Given the description of an element on the screen output the (x, y) to click on. 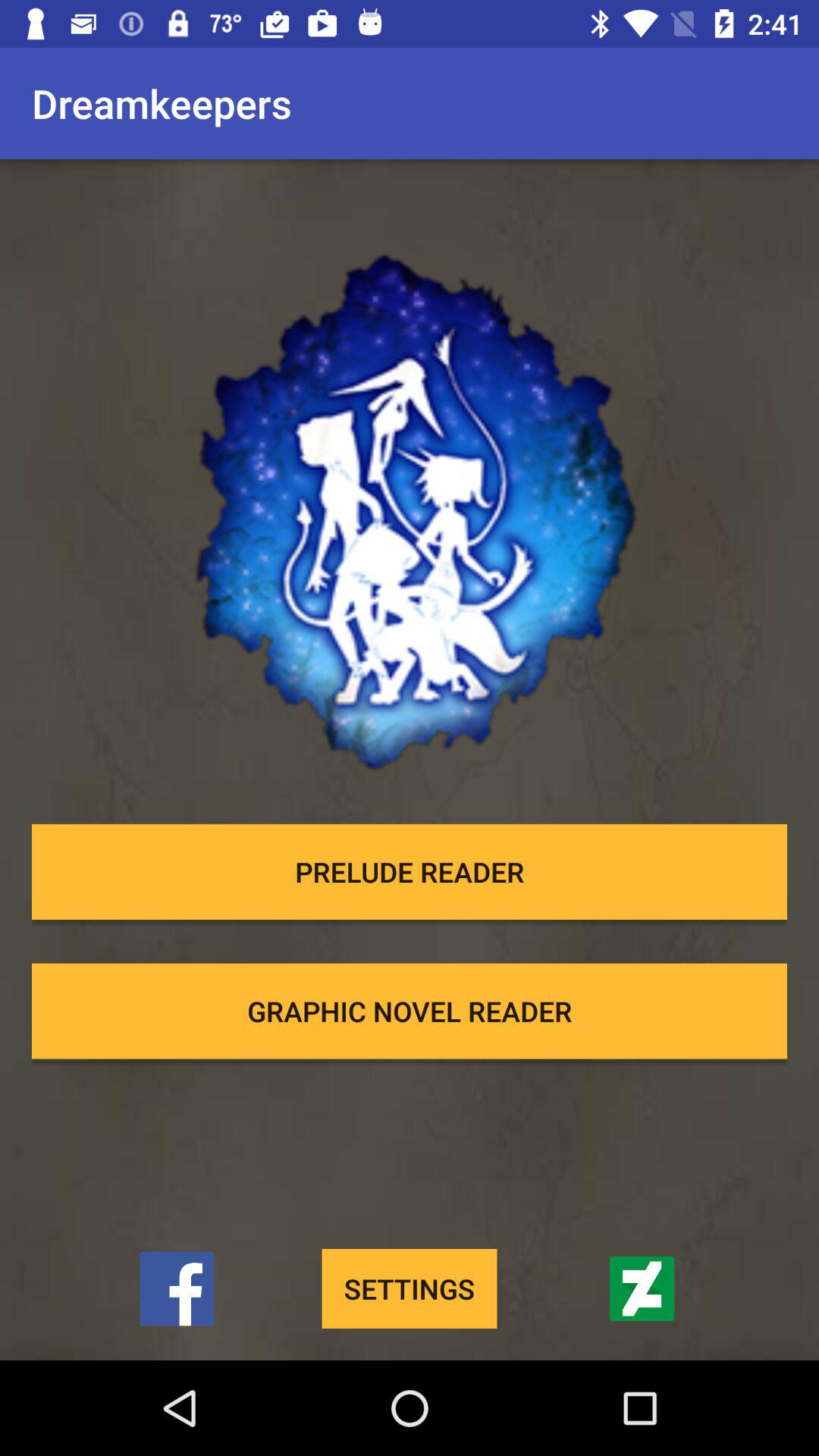
open item below the dreamkeepers (409, 489)
